Given the description of an element on the screen output the (x, y) to click on. 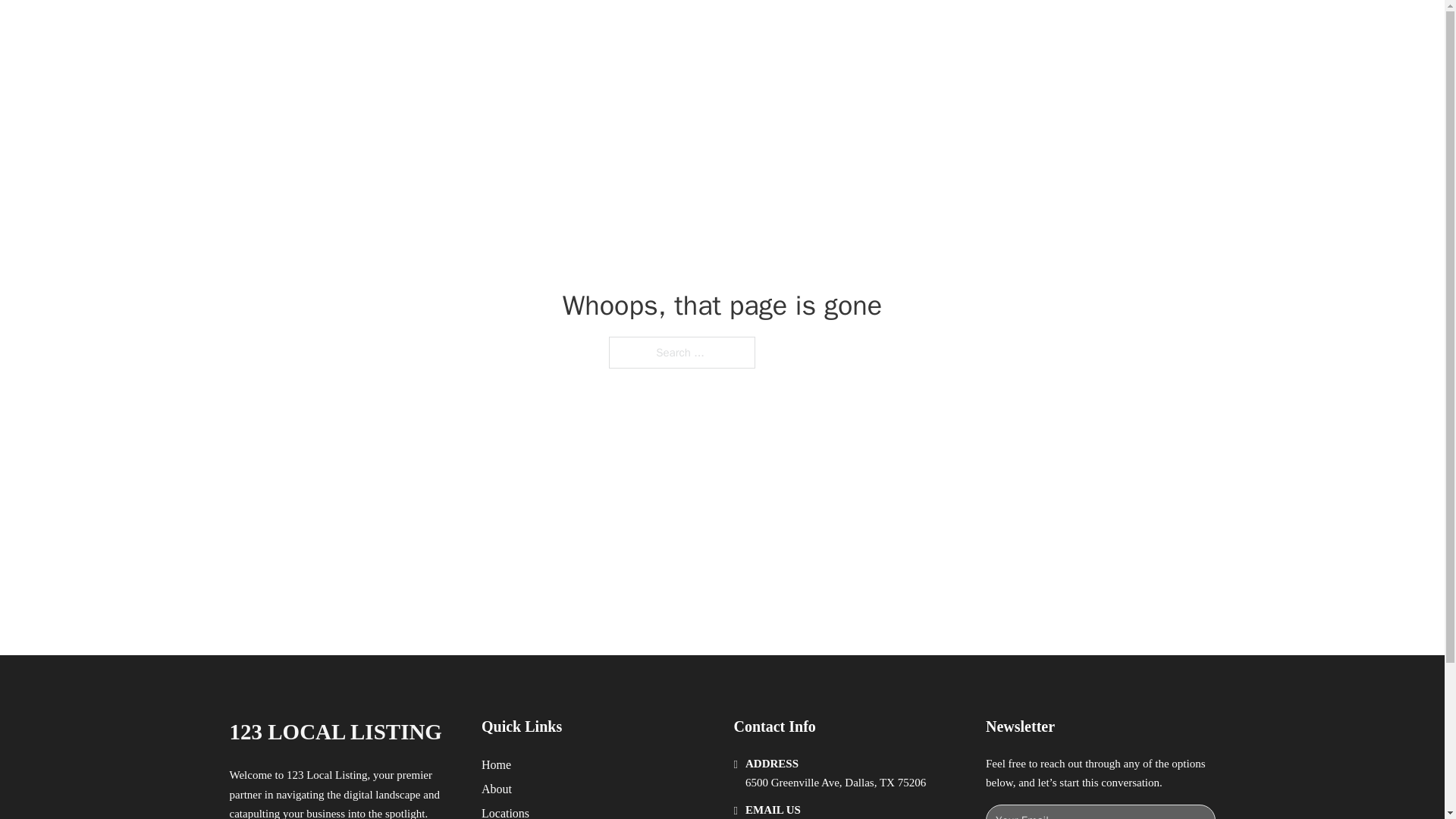
123 LOCAL LISTING (408, 28)
Locations (505, 811)
Home (496, 764)
LOCATIONS (990, 29)
About (496, 788)
123 LOCAL LISTING (334, 732)
HOME (919, 29)
